Given the description of an element on the screen output the (x, y) to click on. 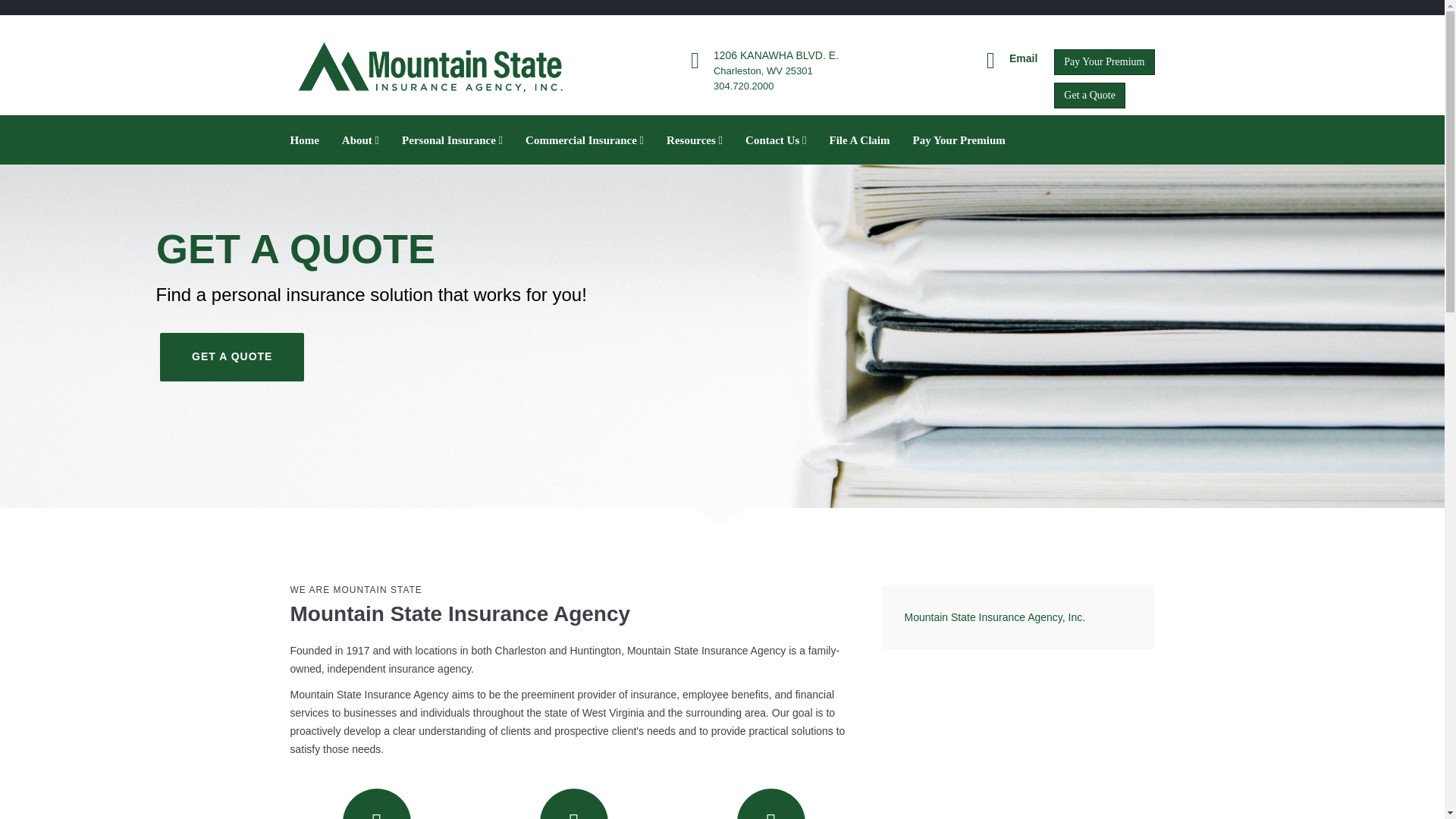
Personal Insurance (451, 139)
Pay Your Premium (1104, 62)
Charleston, WV 25301 (762, 70)
Get a Quote (1089, 95)
Commercial Insurance (584, 139)
304.720.2000 (743, 85)
Resources (694, 139)
Email (1022, 58)
1206 KANAWHA BLVD. E. (775, 55)
